Given the description of an element on the screen output the (x, y) to click on. 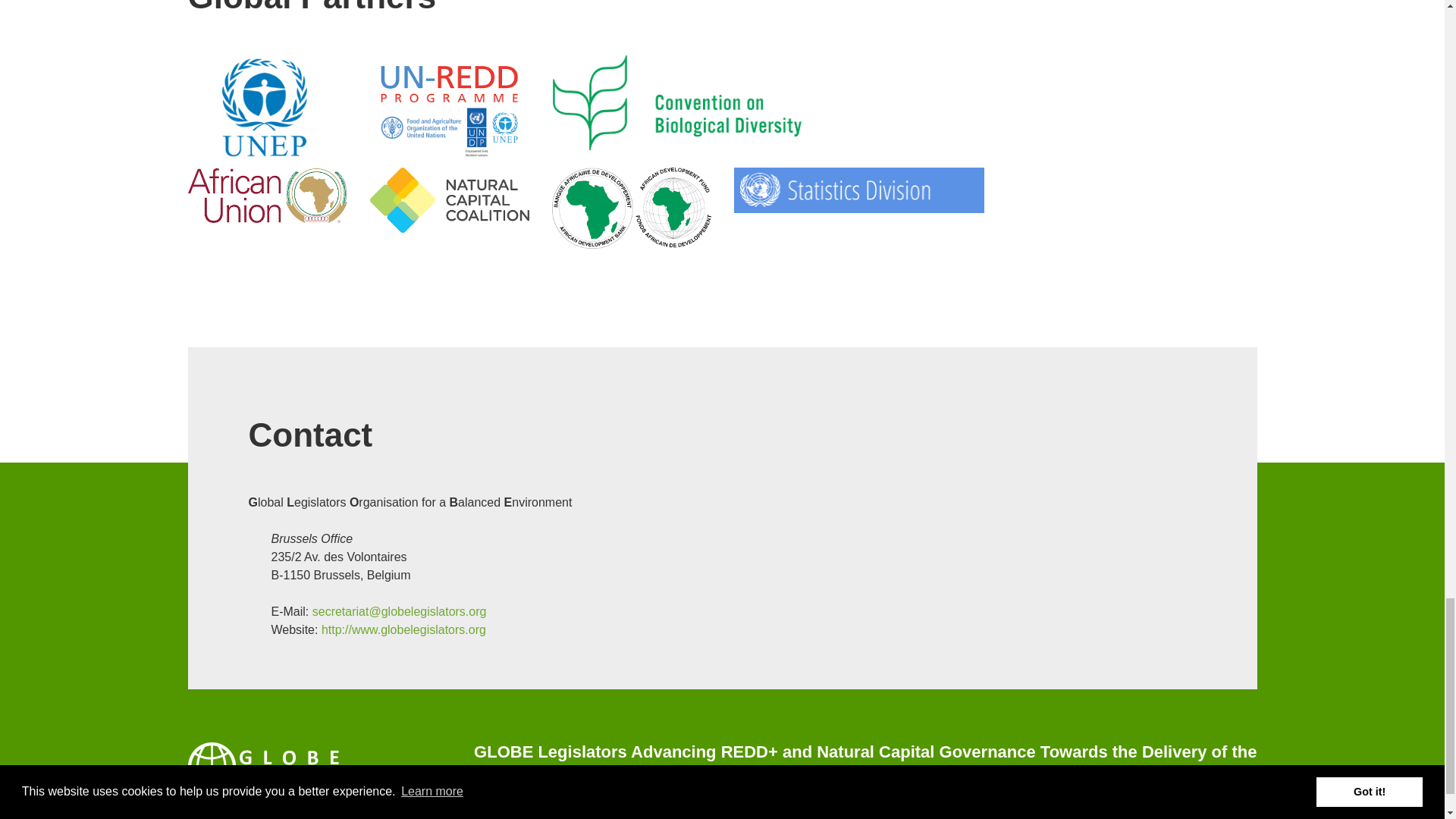
GLOBE (263, 766)
